Given the description of an element on the screen output the (x, y) to click on. 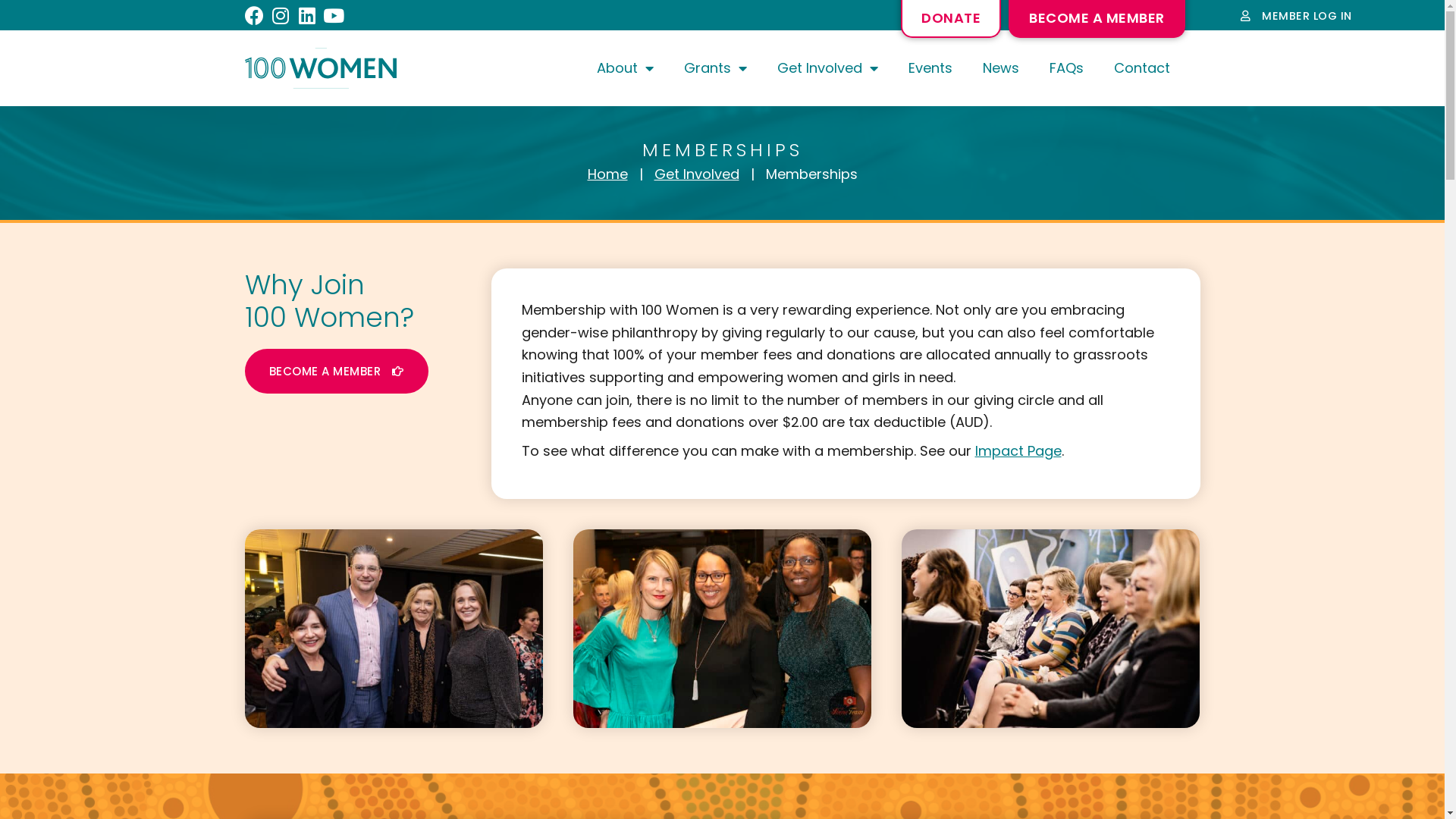
Events Element type: text (930, 68)
Home Element type: text (606, 173)
Get Involved Element type: text (826, 68)
Get Involved Element type: text (695, 173)
Contact Element type: text (1141, 68)
About Element type: text (624, 68)
BECOME A MEMBER Element type: text (335, 370)
FAQs Element type: text (1066, 68)
Impact Page Element type: text (1018, 450)
News Element type: text (1000, 68)
MEMBER LOG IN Element type: text (1296, 15)
Grants Element type: text (715, 68)
